Given the description of an element on the screen output the (x, y) to click on. 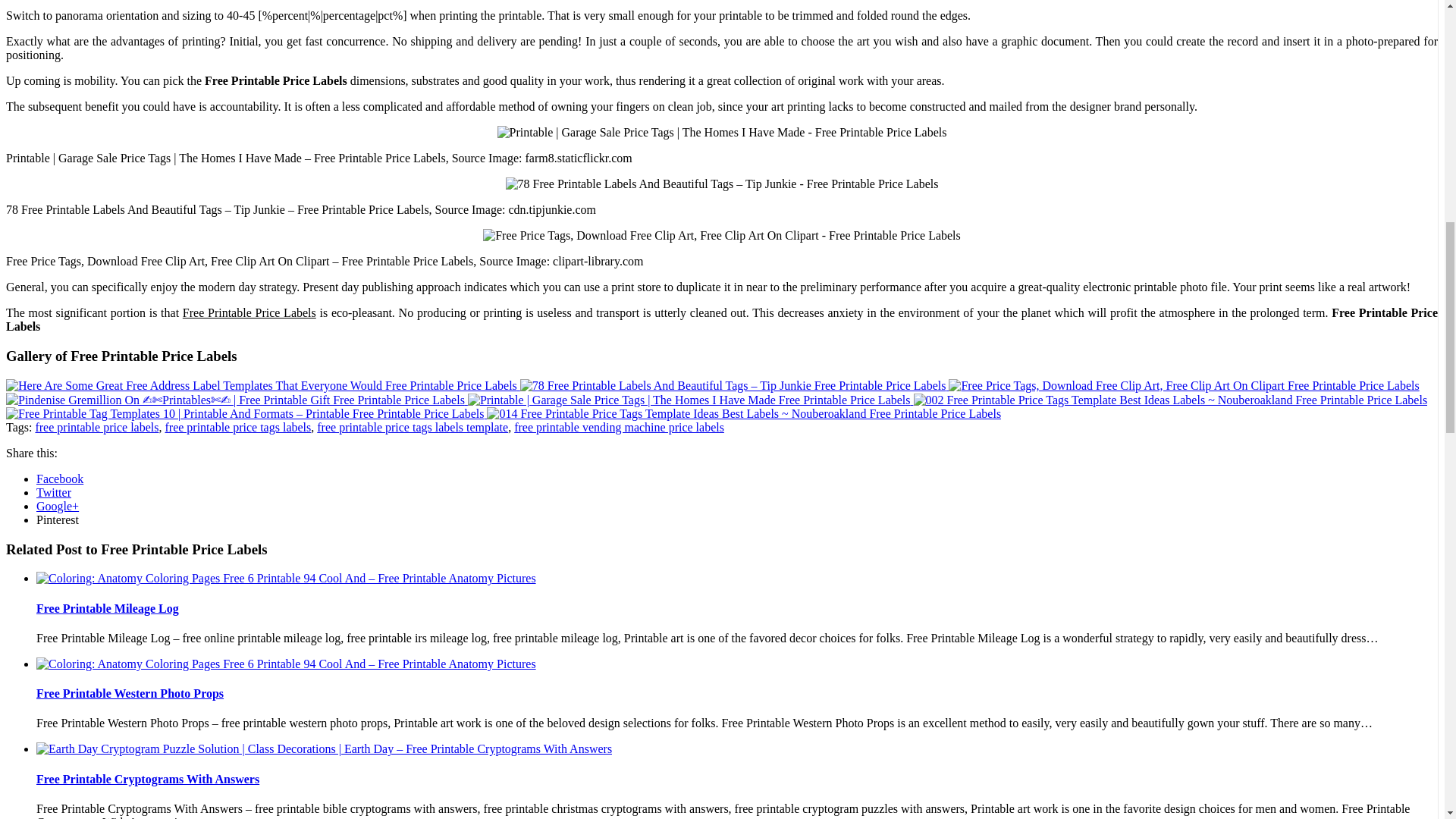
Facebook (59, 478)
free printable price labels (96, 427)
Free Printable Western Photo Props (130, 693)
Pinterest (57, 519)
free printable price tags labels template (412, 427)
free printable price tags labels (237, 427)
free printable vending machine price labels (618, 427)
Twitter (53, 492)
Free Printable Cryptograms With Answers (147, 779)
